Given the description of an element on the screen output the (x, y) to click on. 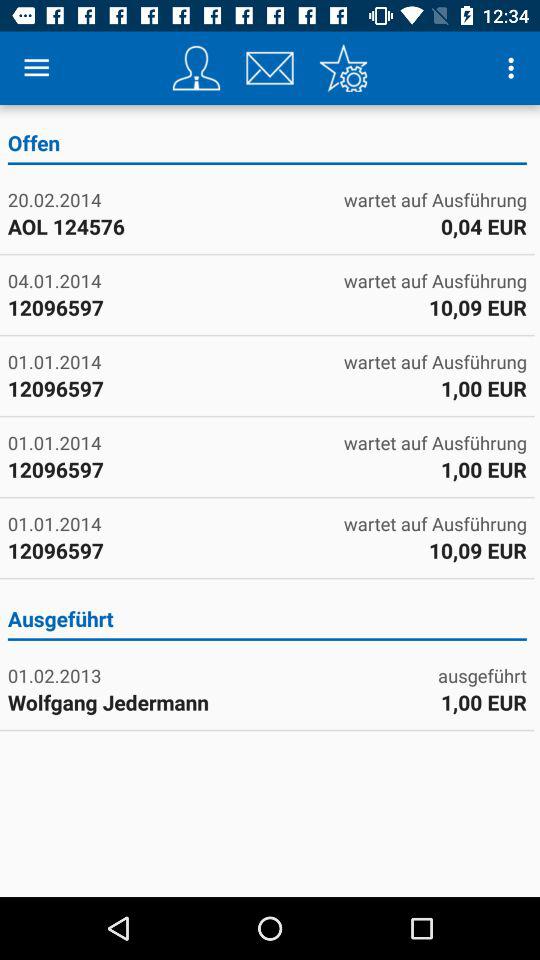
turn on icon above the offen item (343, 67)
